Given the description of an element on the screen output the (x, y) to click on. 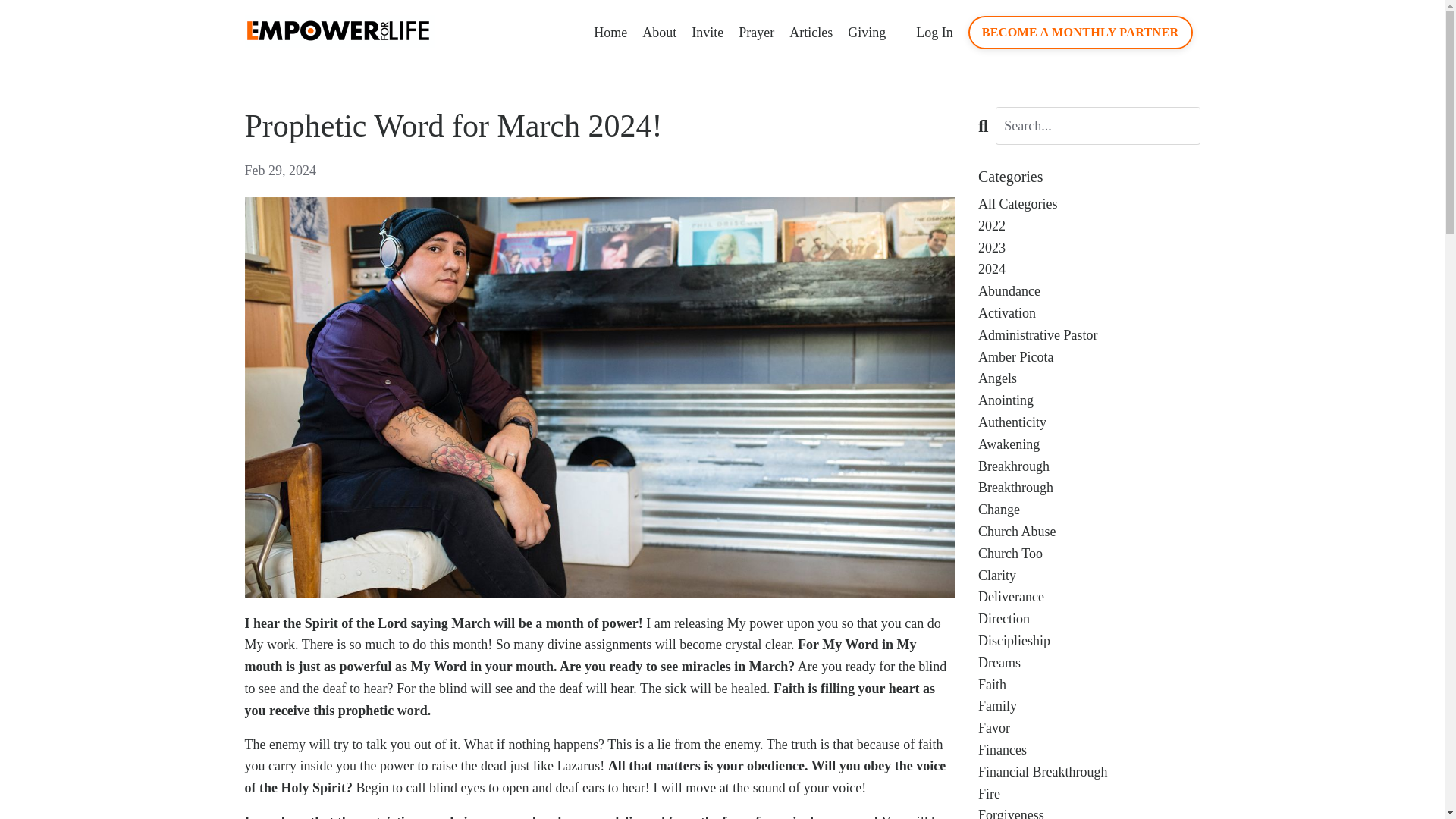
Direction (1088, 618)
2023 (1088, 248)
Change (1088, 509)
BECOME A MONTHLY PARTNER (1080, 32)
Invite (707, 33)
Finances (1088, 750)
Faith (1088, 685)
Prayer (756, 33)
Clarity (1088, 576)
Articles (810, 33)
Church Too (1088, 553)
Giving (866, 33)
About (659, 33)
Activation (1088, 313)
Fire (1088, 793)
